Given the description of an element on the screen output the (x, y) to click on. 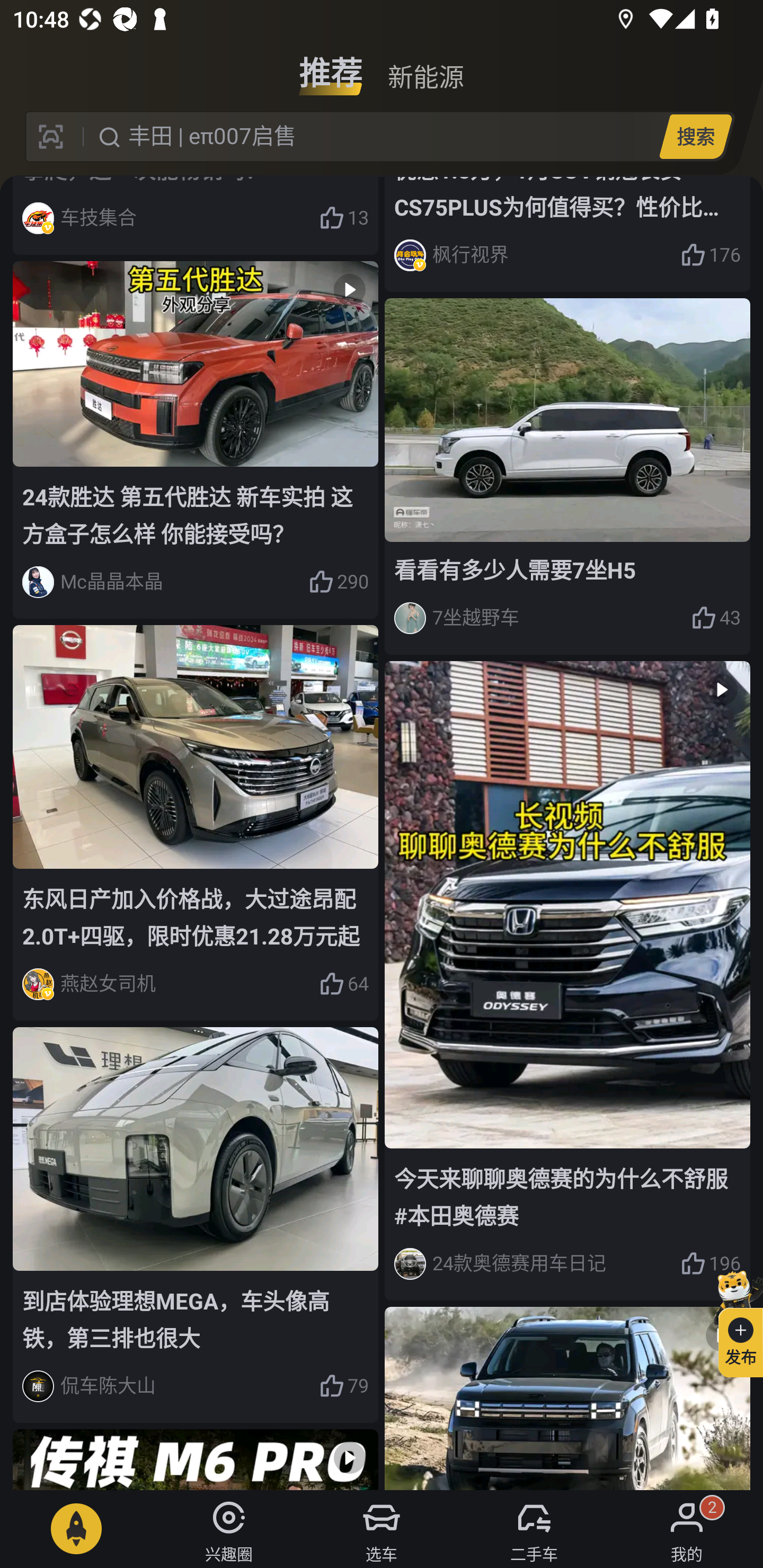
推荐 (330, 65)
新能源 (425, 65)
搜索 (695, 136)
全新一代胜达内外大变样，C柱可攀爬，这一次能畅销吗？ 车技集合 13 (195, 215)
优惠1.5万，1月SUV销冠长安CS75PLUS为何值得买？性价比是亮点！ 枫行视界 176 (567, 234)
13 (343, 217)
176 (710, 255)
 24款胜达 第五代胜达 新车实拍 这方盒子怎么样 你能接受吗？ Mc晶晶本晶 290 (195, 440)
看看有多少人需要7坐H5 7坐越野车 43 (567, 476)
290 (338, 581)
43 (715, 617)
东风日产加入价格战，大过途昂配2.0T+四驱，限时优惠21.28万元起 燕赵女司机 64 (195, 822)
 今天来聊聊奥德赛的为什么不舒服#本田奥德赛 24款奥德赛用车日记 196 (567, 980)
64 (343, 983)
到店体验理想MEGA，车头像高铁，第三排也很大 侃车陈大山 79 (195, 1224)
196 (710, 1263)
发布 (732, 1321)
 (567, 1397)
79 (343, 1385)
 (195, 1458)
 兴趣圈 (228, 1528)
 选车 (381, 1528)
 二手车 (533, 1528)
 我的 (686, 1528)
